Given the description of an element on the screen output the (x, y) to click on. 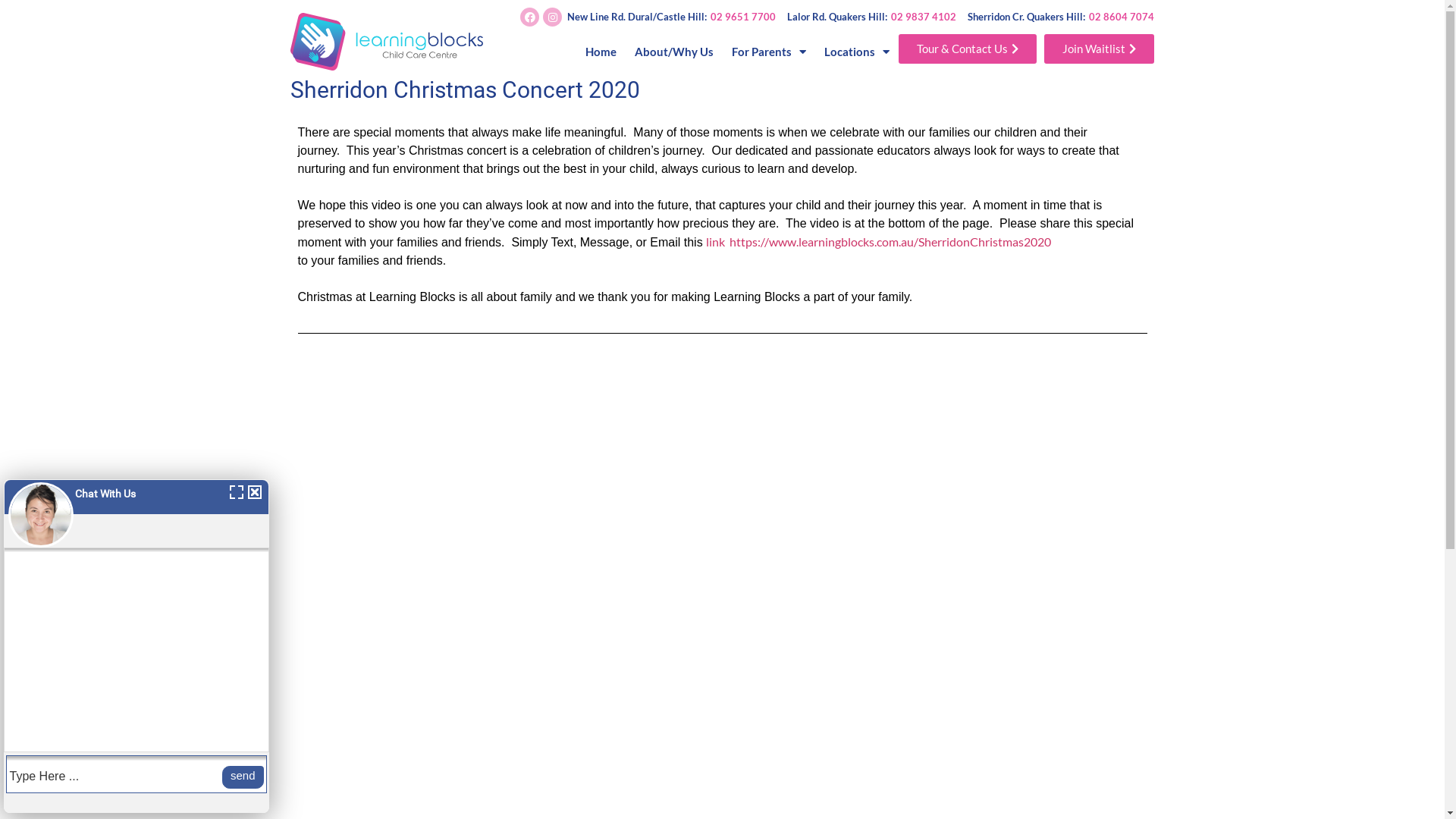
Join Waitlist Element type: text (1099, 48)
Sherridon Cr. Quakers Hill:
02 8604 7074 Element type: text (1060, 17)
Locations Element type: text (856, 51)
Lalor Rd. Quakers Hill:
02 9837 4102 Element type: text (871, 17)
New Line Rd. Dural/Castle Hill:
02 9651 7700 Element type: text (671, 17)
Home Element type: text (600, 51)
chat bot window Element type: hover (136, 645)
Tour & Contact Us Element type: text (967, 48)
About/Why Us Element type: text (673, 51)
For Parents Element type: text (768, 51)
